Given the description of an element on the screen output the (x, y) to click on. 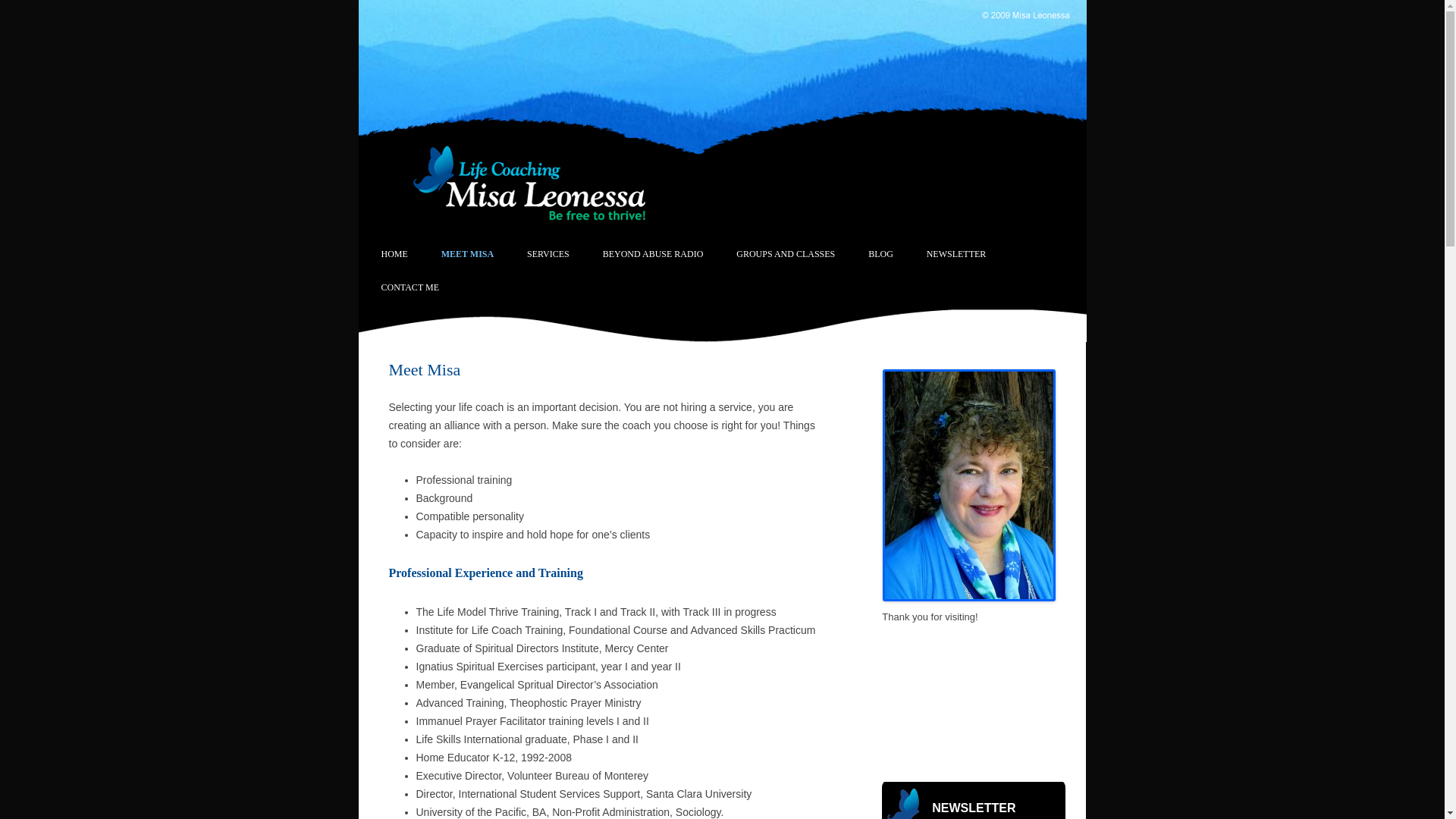
HOME (393, 254)
SERVICES (548, 254)
BLOG (880, 254)
BEYOND ABUSE RADIO (652, 254)
Skip to content (770, 242)
NEWSLETTER (956, 254)
CONTACT ME (409, 287)
MEET MISA (467, 254)
GROUPS AND CLASSES (785, 254)
Skip to content (770, 242)
